Given the description of an element on the screen output the (x, y) to click on. 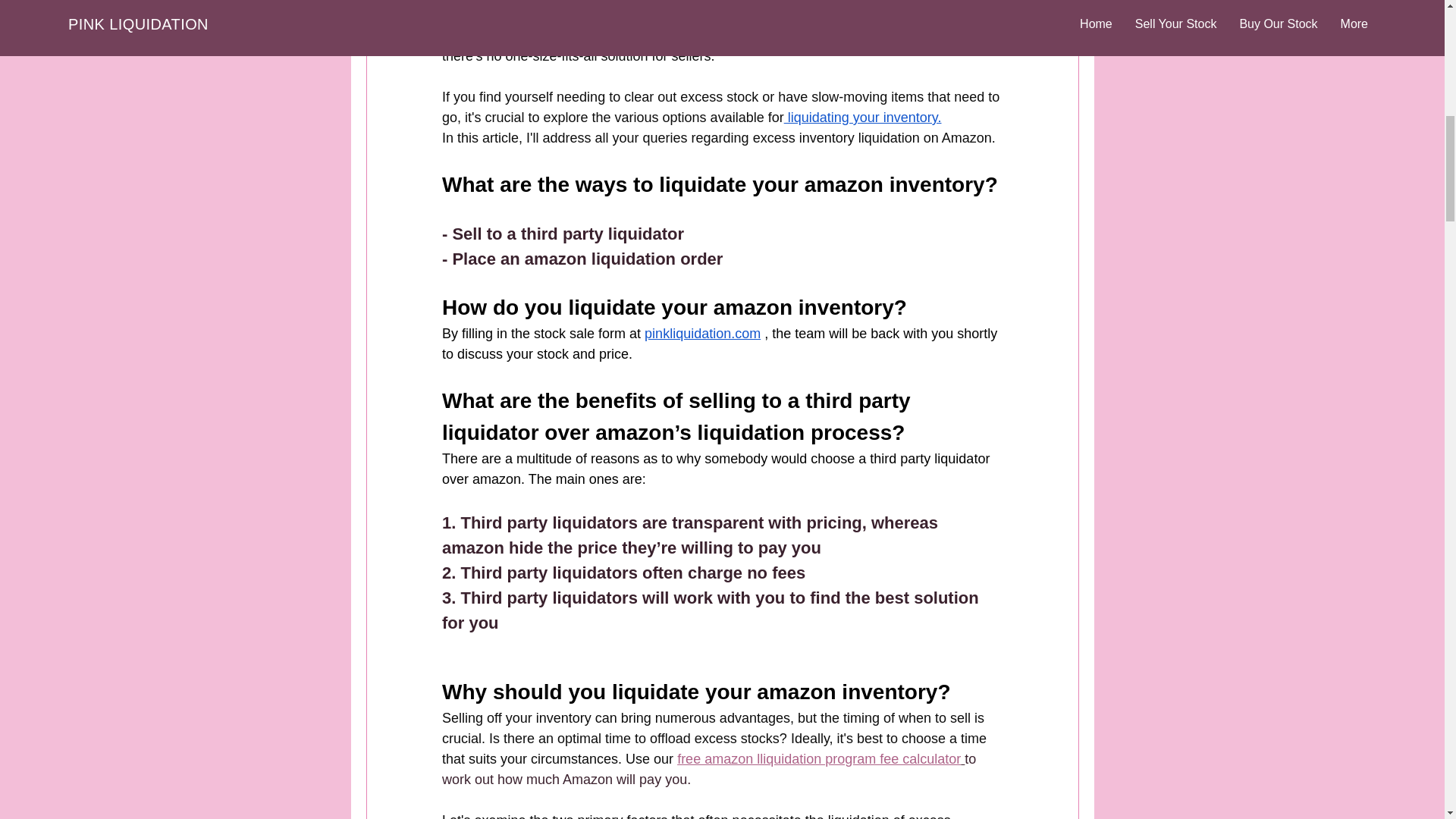
pinkliquidation.com (702, 333)
 liquidating your inventory. (861, 117)
free amazon lliquidation program fee calculator (818, 758)
